Given the description of an element on the screen output the (x, y) to click on. 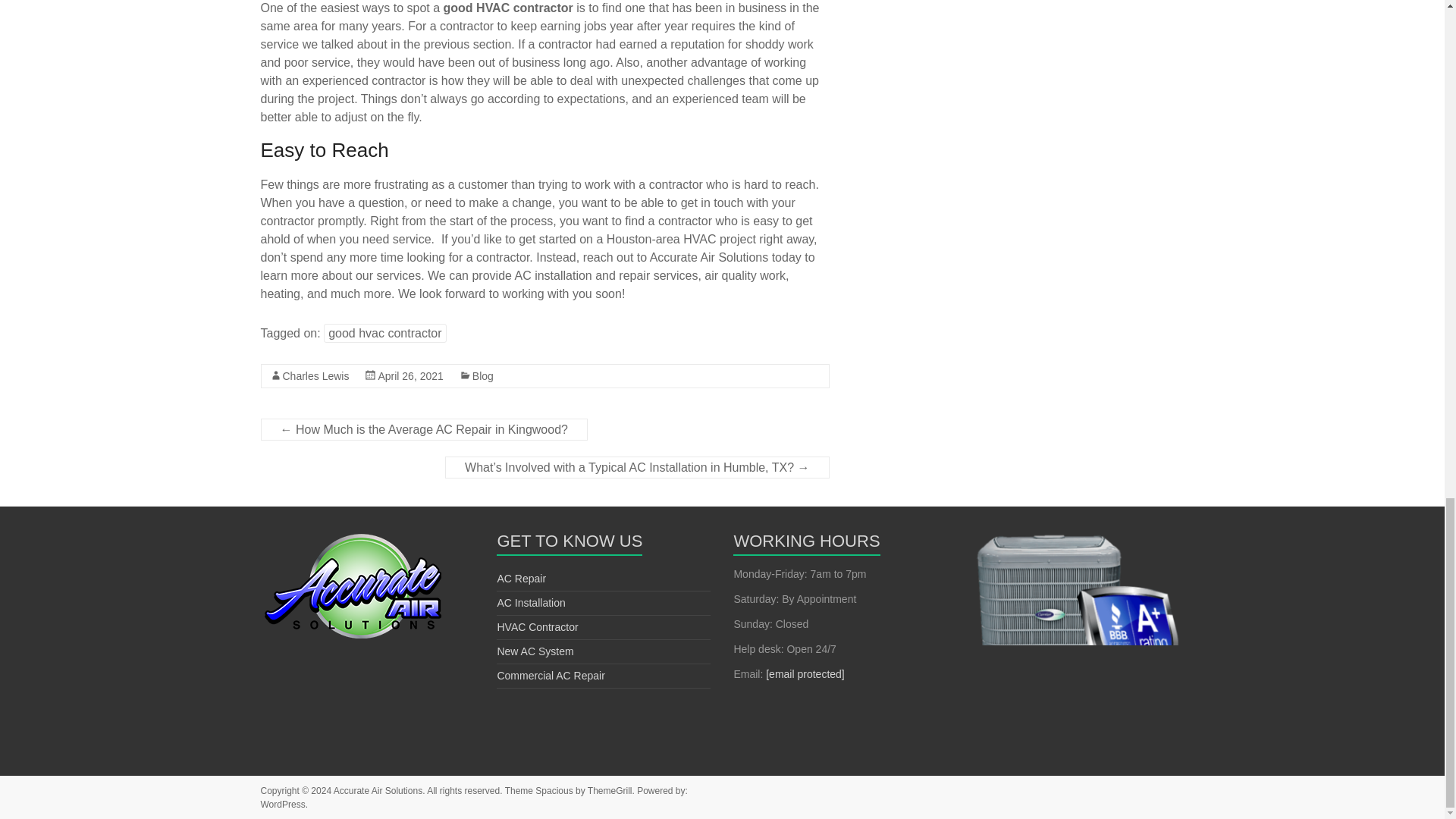
Charles Lewis (315, 376)
Commercial AC Repair (550, 675)
New AC System (534, 651)
good hvac contractor (384, 333)
WordPress (282, 804)
AC Repair (521, 578)
Spacious (553, 790)
Spacious (553, 790)
Blog (482, 376)
April 26, 2021 (409, 376)
